Given the description of an element on the screen output the (x, y) to click on. 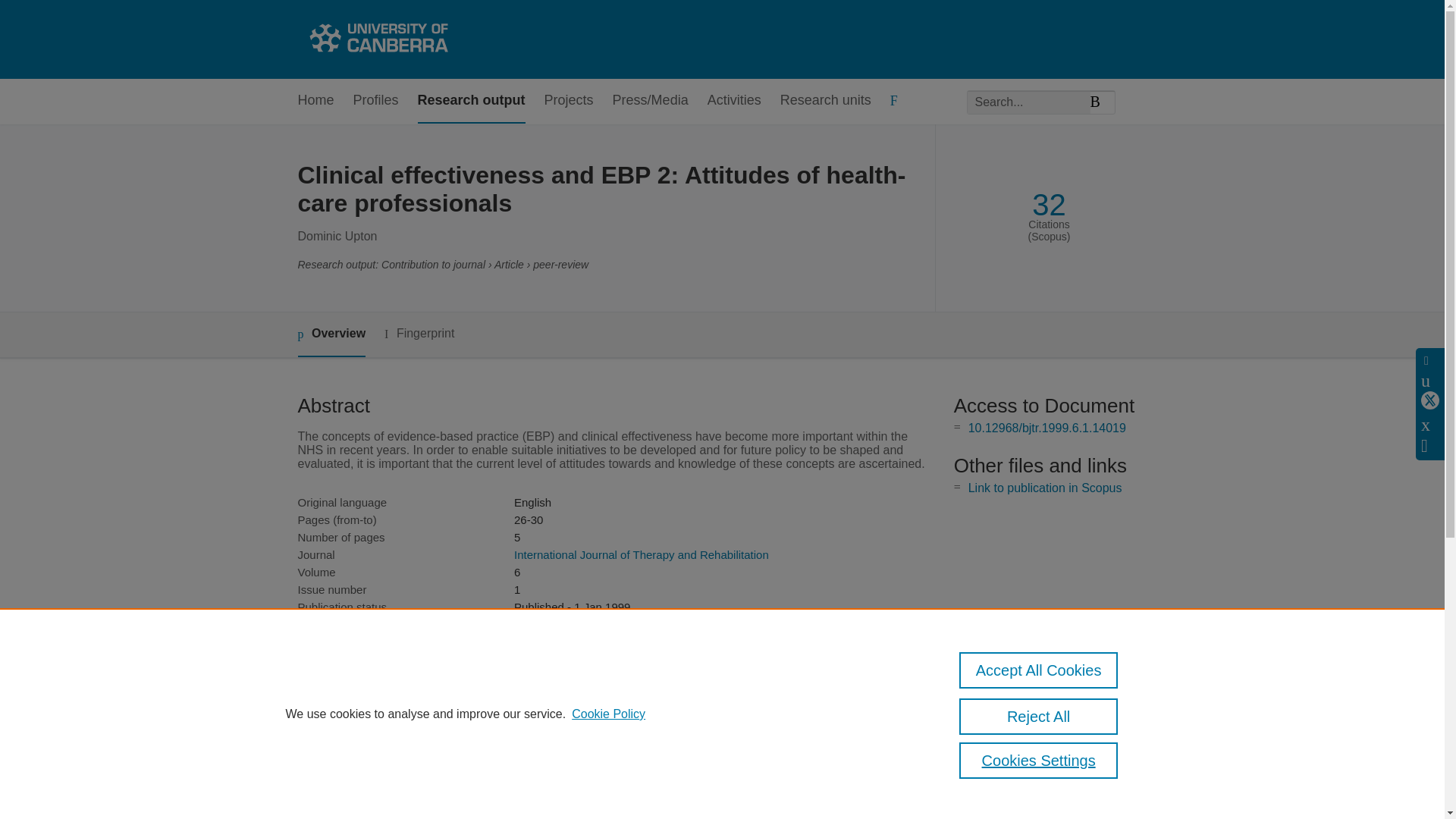
Link to publication in Scopus (1045, 487)
32 (1048, 204)
Overview (331, 334)
Projects (569, 100)
Activities (734, 100)
Research output (471, 100)
Research units (825, 100)
Profiles (375, 100)
International Journal of Therapy and Rehabilitation (640, 554)
